Given the description of an element on the screen output the (x, y) to click on. 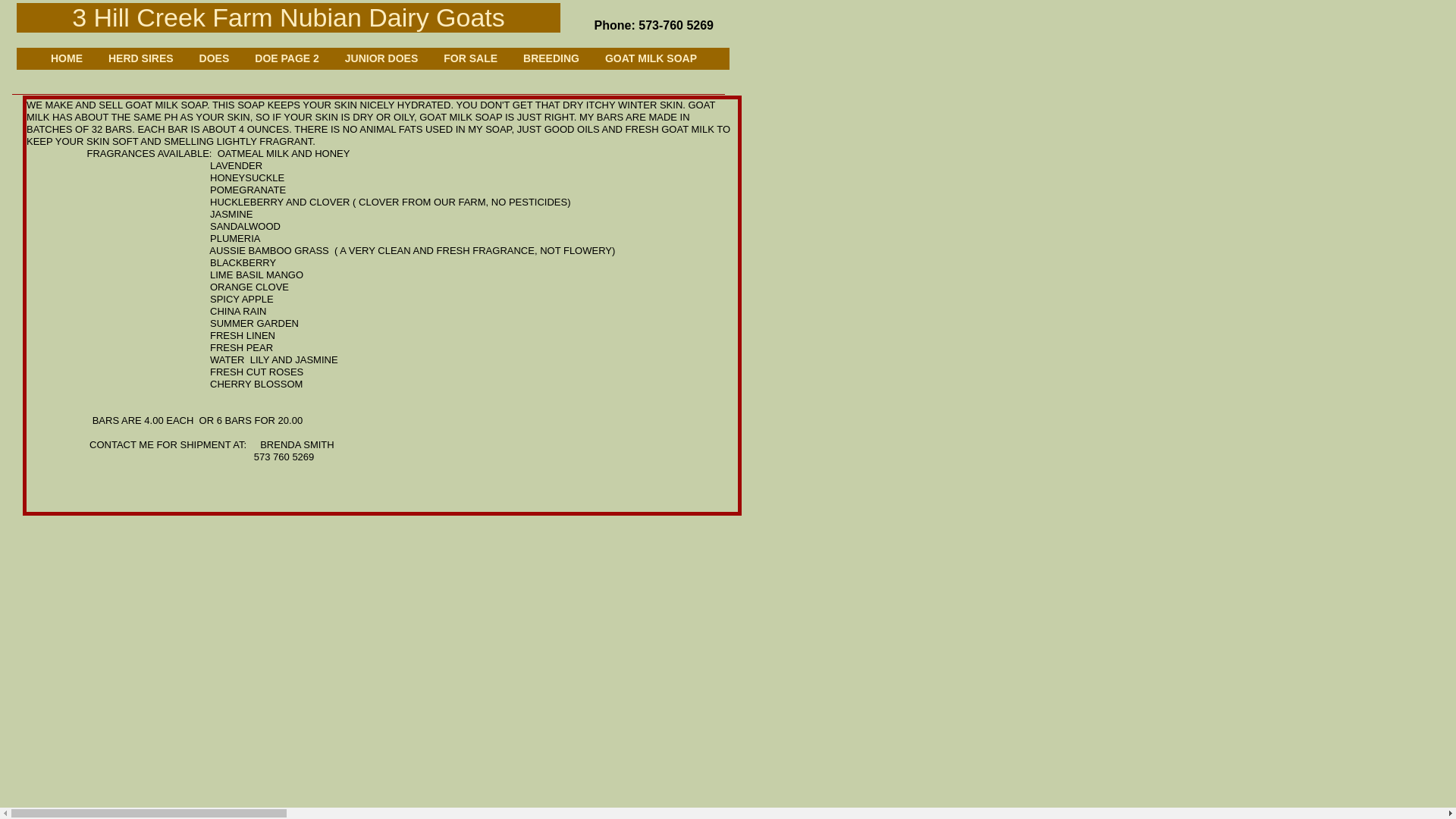
JUNIOR DOES Element type: text (381, 61)
DOE PAGE 2 Element type: text (286, 61)
HOME Element type: text (72, 61)
DOES Element type: text (214, 61)
BREEDING Element type: text (551, 61)
FOR SALE Element type: text (470, 61)
HERD SIRES Element type: text (140, 61)
GOAT MILK SOAP Element type: text (644, 61)
